Given the description of an element on the screen output the (x, y) to click on. 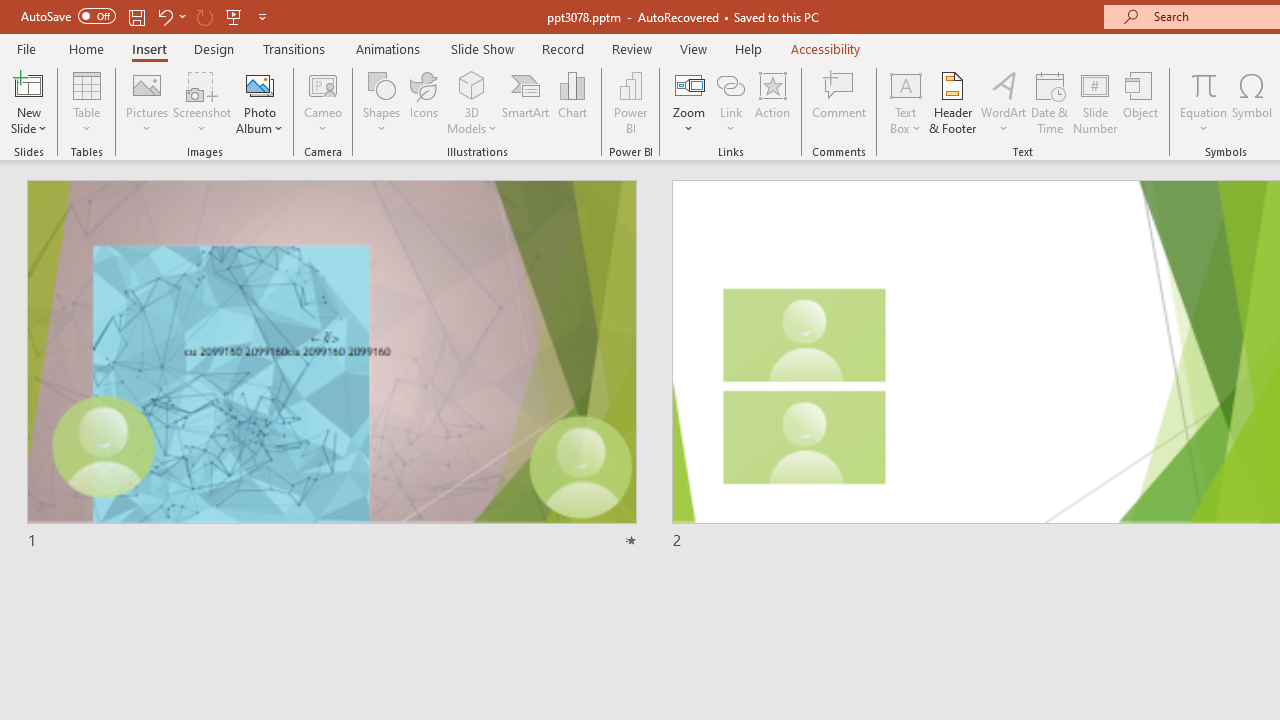
Link (731, 102)
Link (731, 84)
Draw Horizontal Text Box (905, 84)
Object... (1141, 102)
Text Box (905, 102)
Pictures (147, 102)
Action (772, 102)
WordArt (1004, 102)
Photo Album... (259, 102)
Power BI (630, 102)
Screenshot (202, 102)
